Given the description of an element on the screen output the (x, y) to click on. 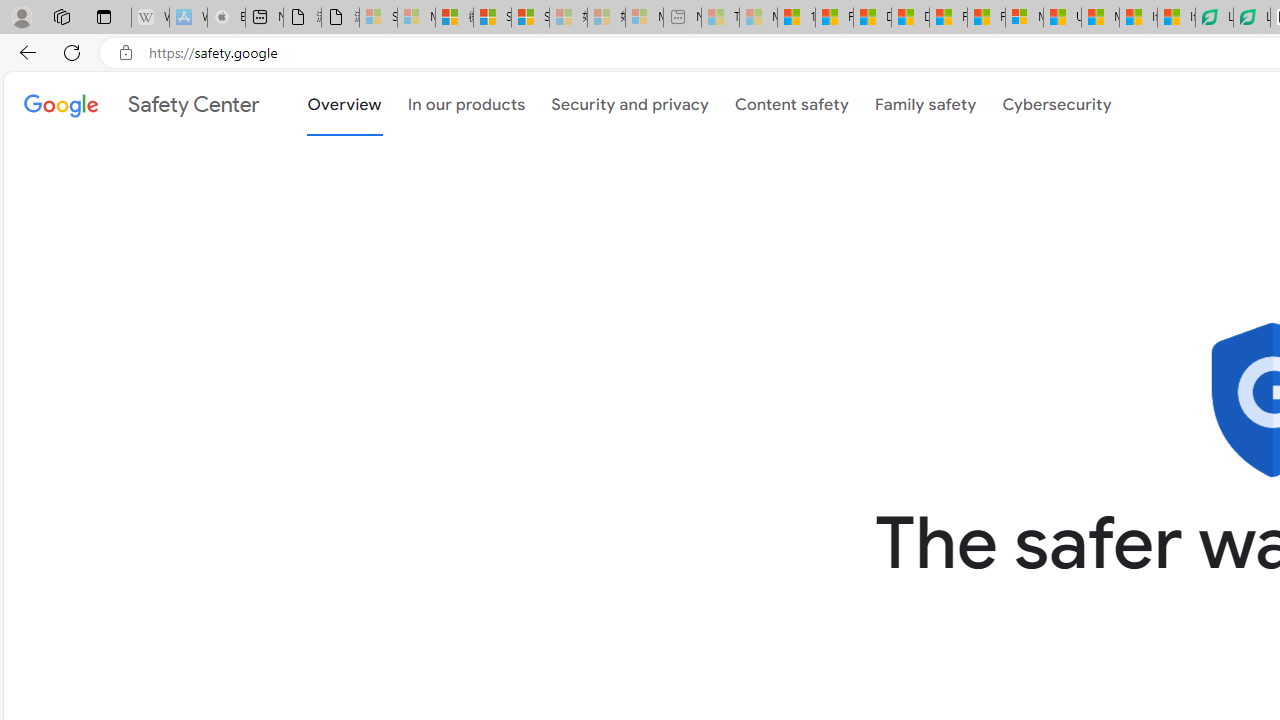
Safety Center (141, 103)
Top Stories - MSN - Sleeping (719, 17)
Microsoft Services Agreement - Sleeping (416, 17)
Overview (344, 103)
Foo BAR | Trusted Community Engagement and Contributions (985, 17)
Content safety (791, 102)
Microsoft account | Account Checkup - Sleeping (644, 17)
Cybersecurity (1057, 102)
Food and Drink - MSN (833, 17)
